Given the description of an element on the screen output the (x, y) to click on. 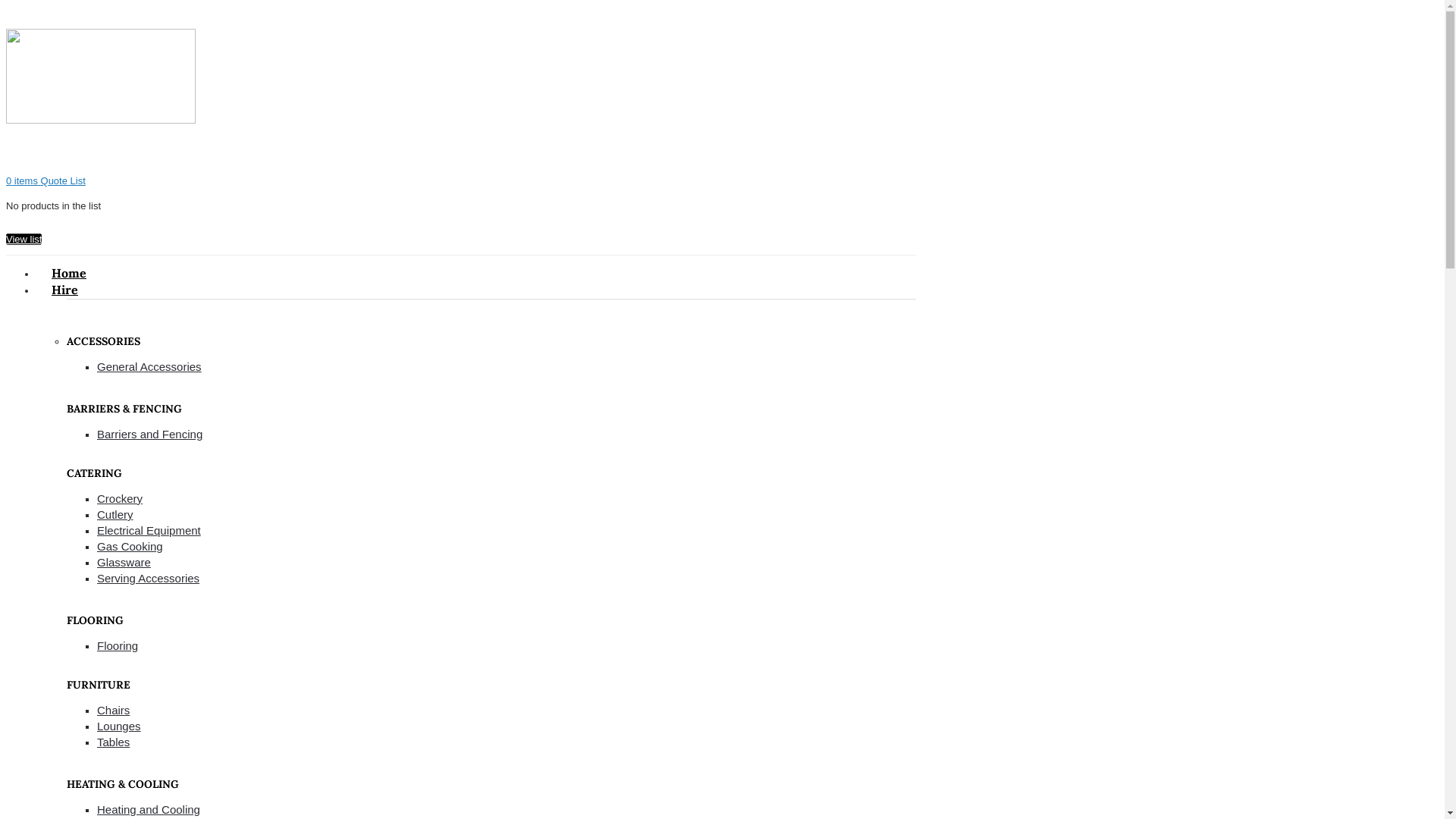
View list Element type: text (23, 238)
Gas Cooking Element type: text (130, 546)
Home Element type: text (68, 272)
General Accessories Element type: text (149, 366)
Hire Element type: text (64, 289)
Barriers and Fencing Element type: text (149, 433)
Electrical Equipment Element type: text (148, 530)
Glassware Element type: text (123, 562)
Crockery Element type: text (119, 498)
Tables Element type: text (113, 741)
Flooring Element type: text (117, 645)
Lounges Element type: text (119, 725)
0 items Quote List Element type: text (45, 180)
Cutlery Element type: text (115, 514)
Chairs Element type: text (113, 709)
Serving Accessories Element type: text (148, 577)
